Given the description of an element on the screen output the (x, y) to click on. 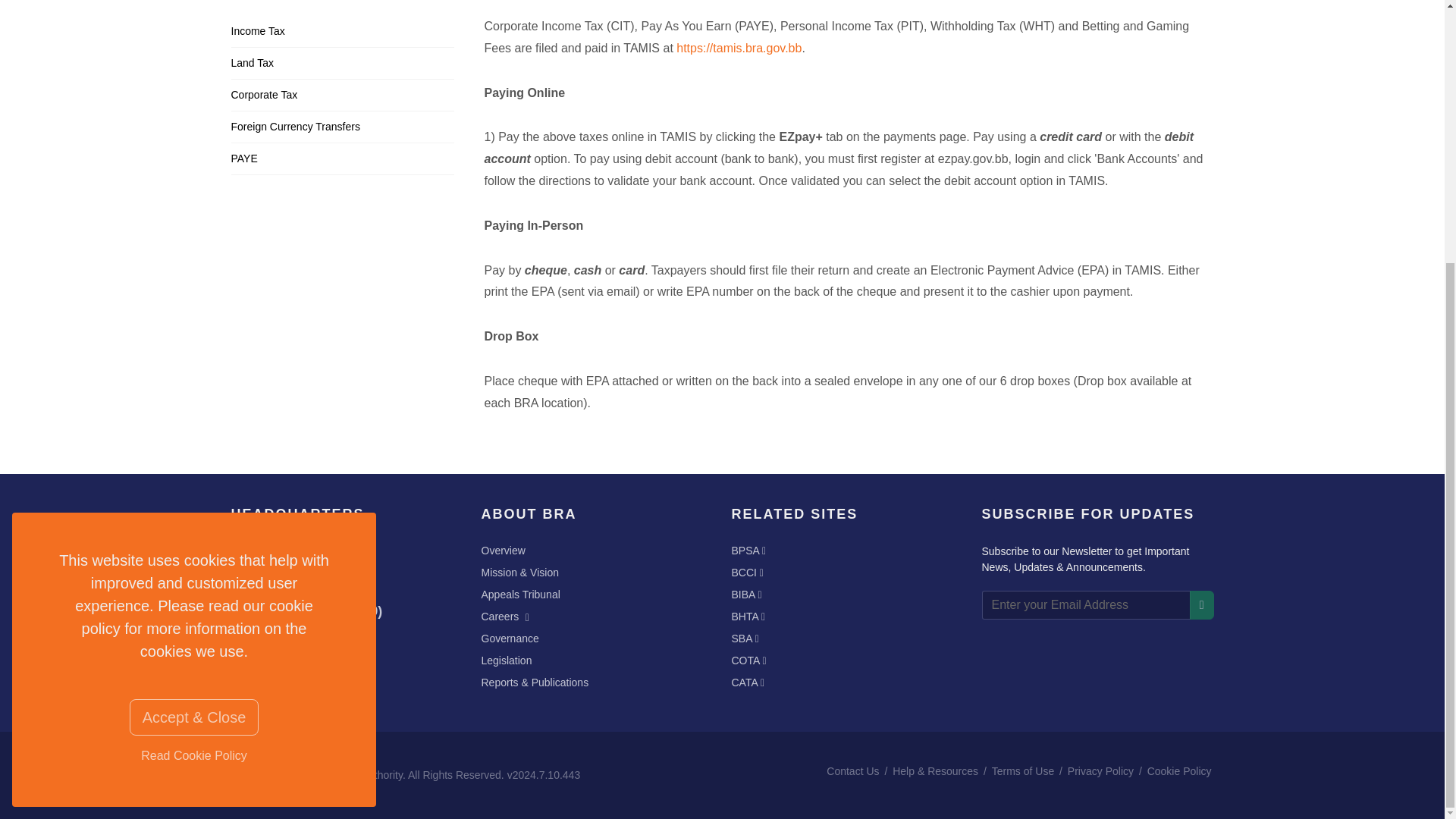
Youtube (327, 646)
Twitter (271, 646)
Facebook (242, 646)
Read Cookie Policy (194, 376)
LinkedIn (354, 646)
instagram (298, 646)
